Given the description of an element on the screen output the (x, y) to click on. 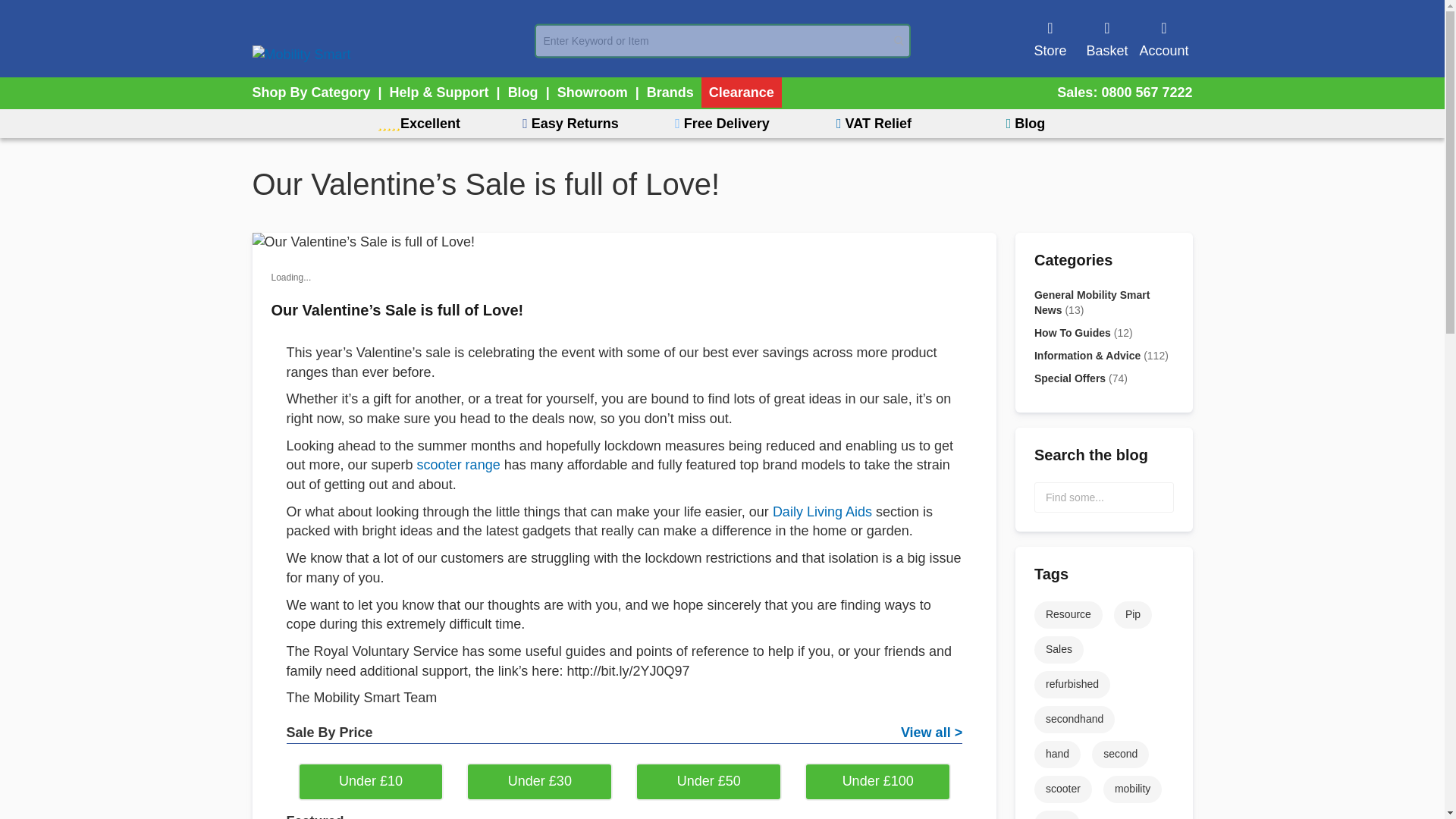
Mobility Smart (300, 55)
Basket (1106, 38)
Account (1163, 38)
Mobility Smart (392, 40)
How To Guides (1103, 332)
General Mobility Smart News (1103, 302)
Store (1050, 38)
